Given the description of an element on the screen output the (x, y) to click on. 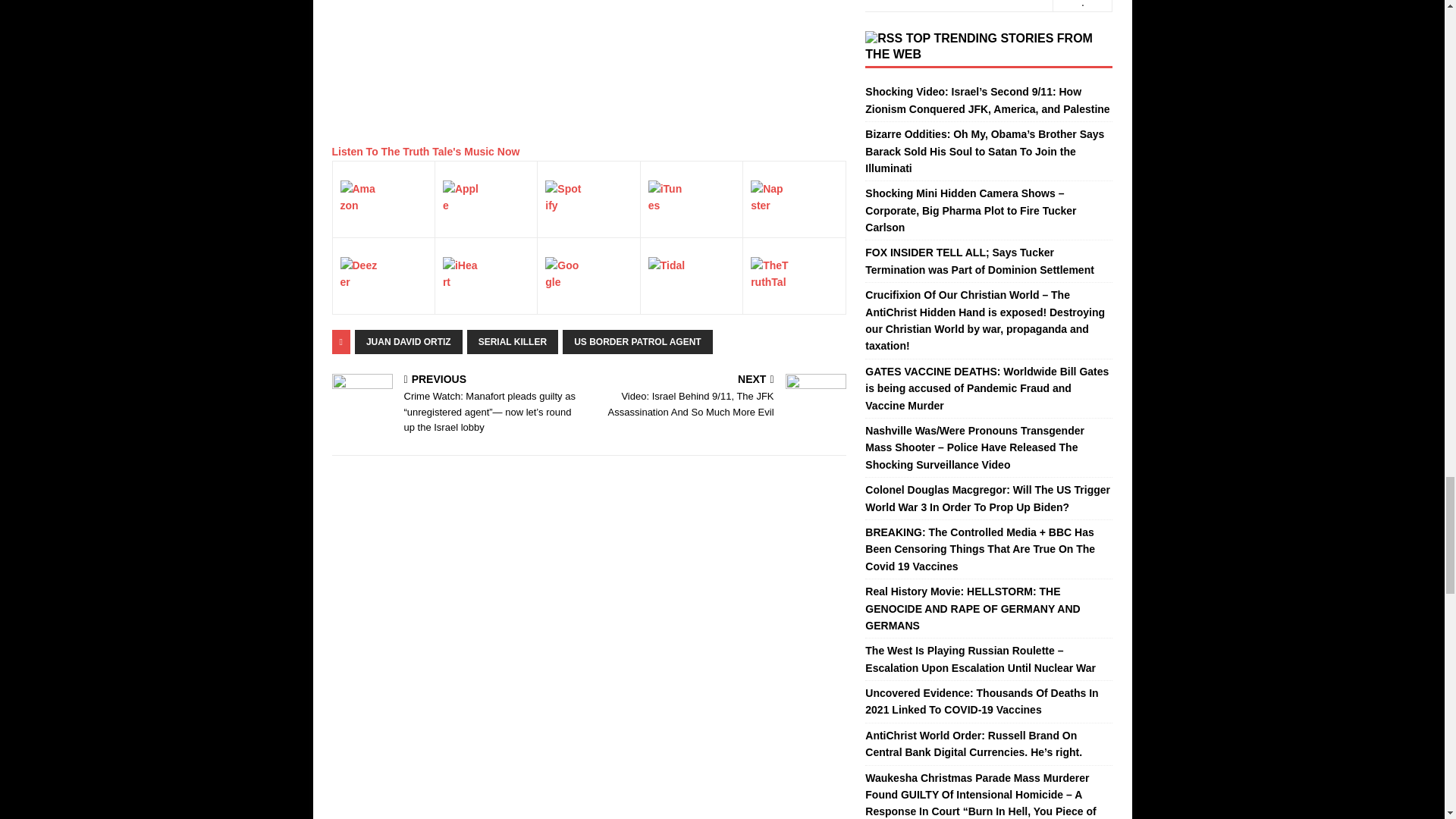
JUAN DAVID ORTIZ (409, 341)
US BORDER PATROL AGENT (637, 341)
SERIAL KILLER (512, 341)
Listen To The Truth Tale's Music Now (425, 151)
